Given the description of an element on the screen output the (x, y) to click on. 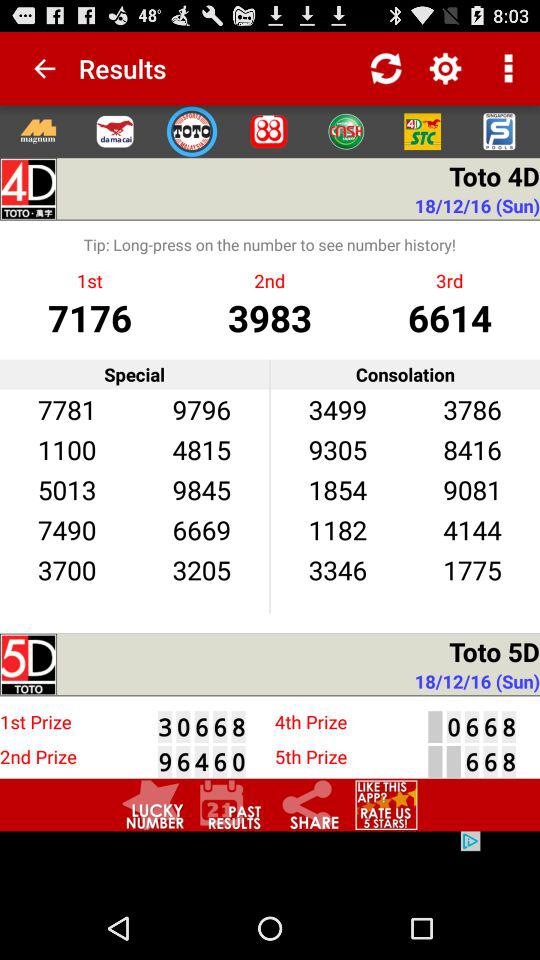
refresh (386, 68)
